Given the description of an element on the screen output the (x, y) to click on. 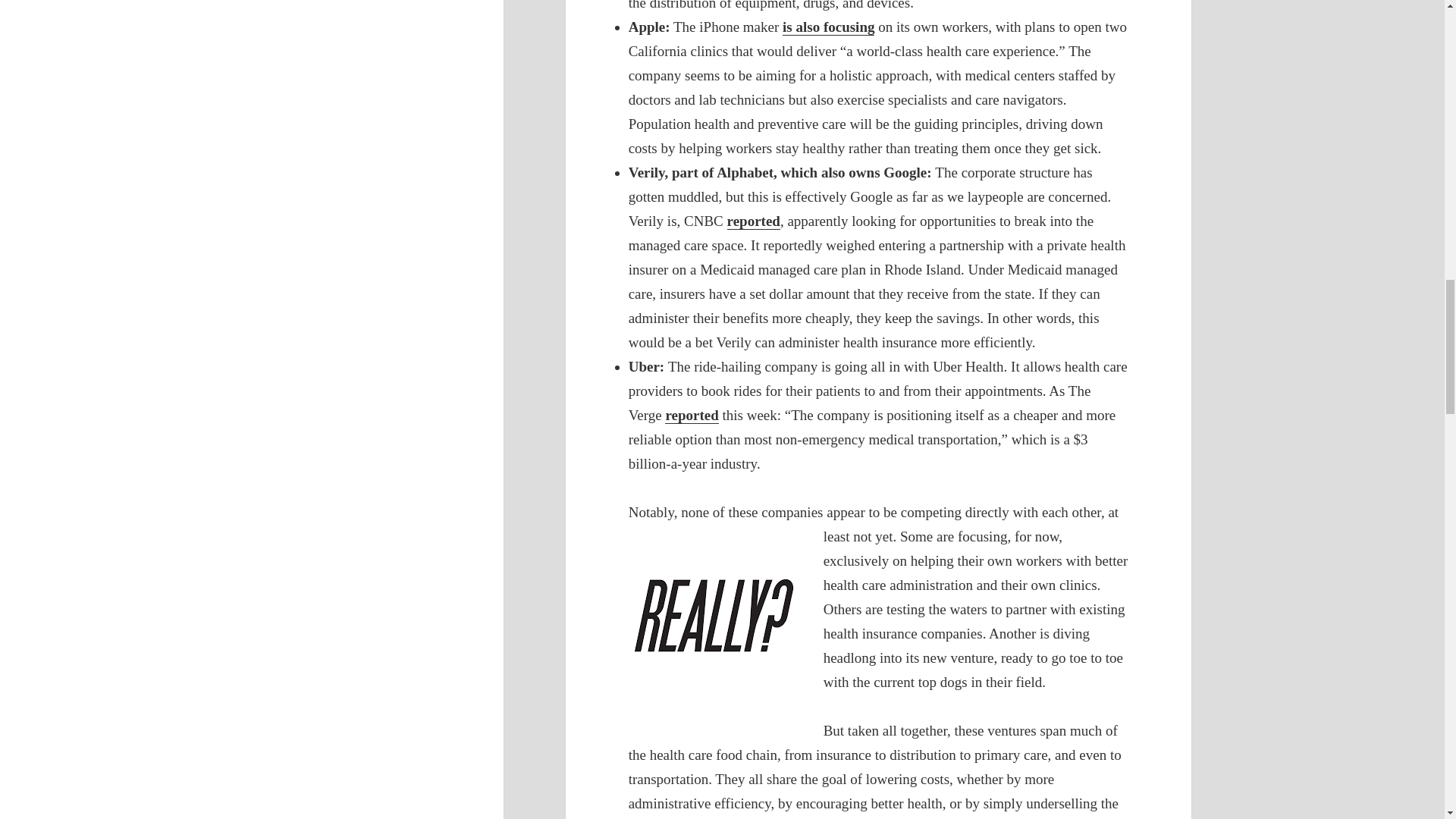
is also focusing (829, 27)
reported (691, 415)
reported (753, 221)
